Given the description of an element on the screen output the (x, y) to click on. 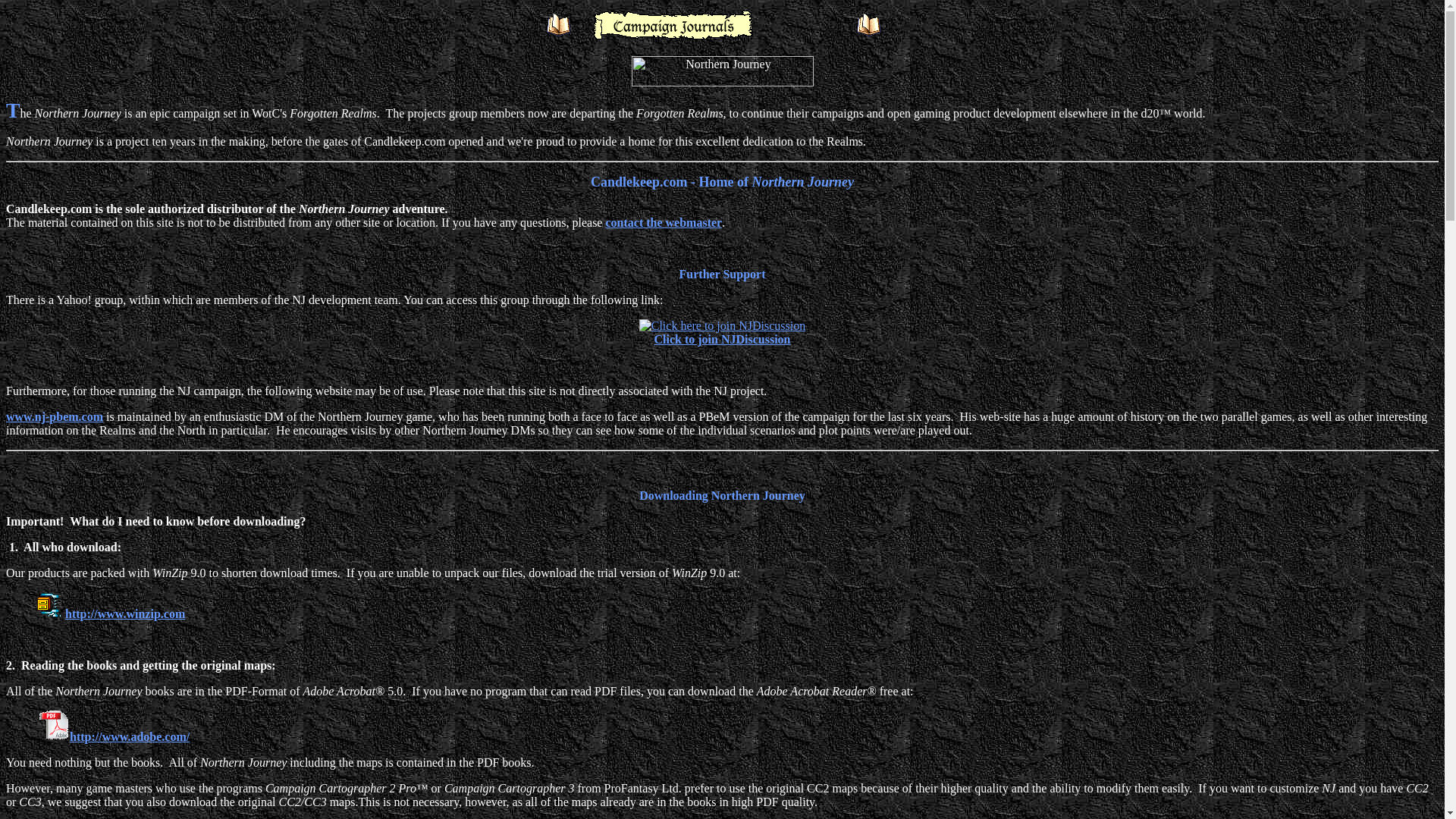
contact the webmaster (663, 222)
www.nj-pbem.com (54, 416)
Click to join NJDiscussion (722, 332)
